Given the description of an element on the screen output the (x, y) to click on. 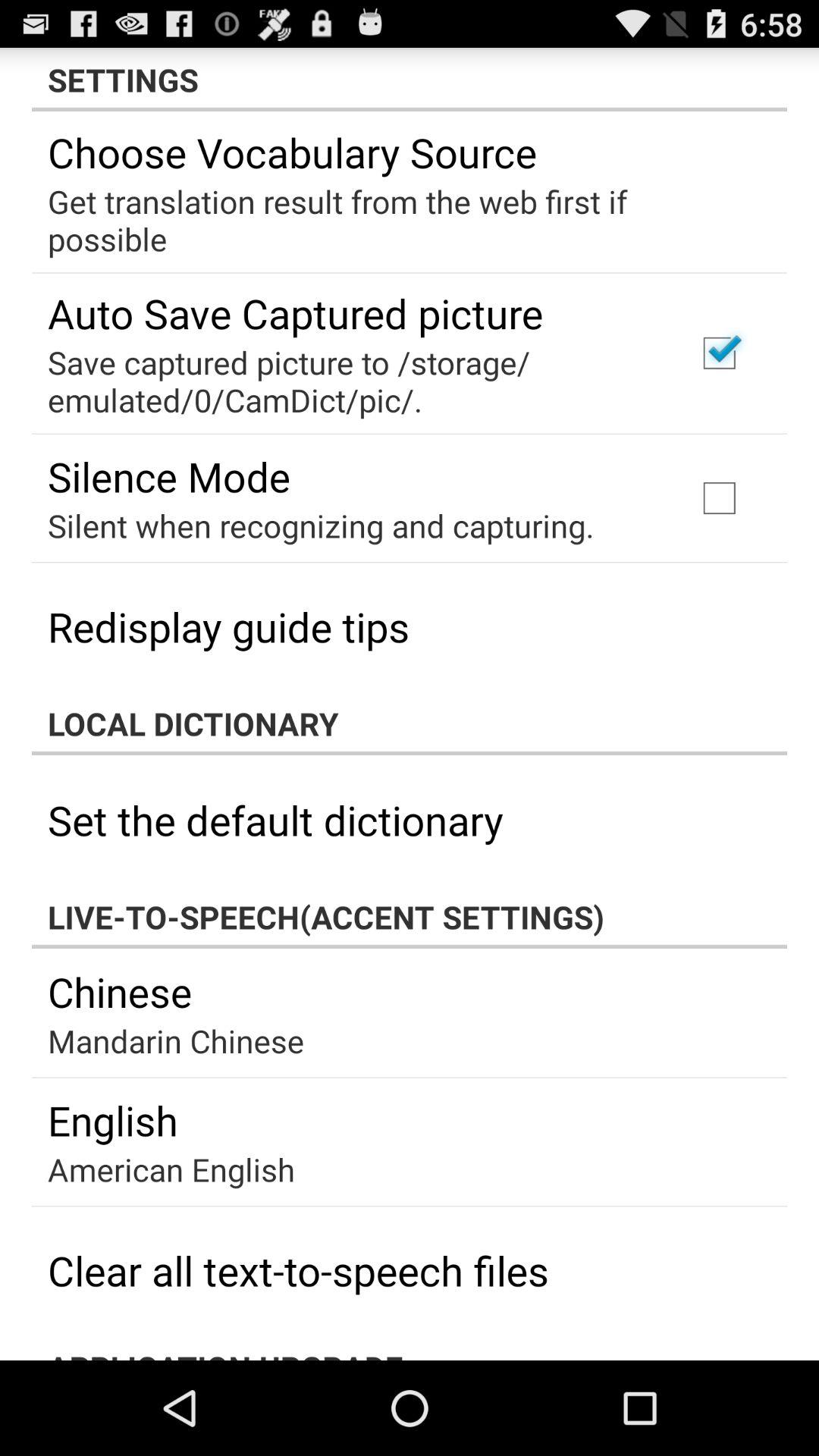
tap the icon above the clear all text item (171, 1168)
